Given the description of an element on the screen output the (x, y) to click on. 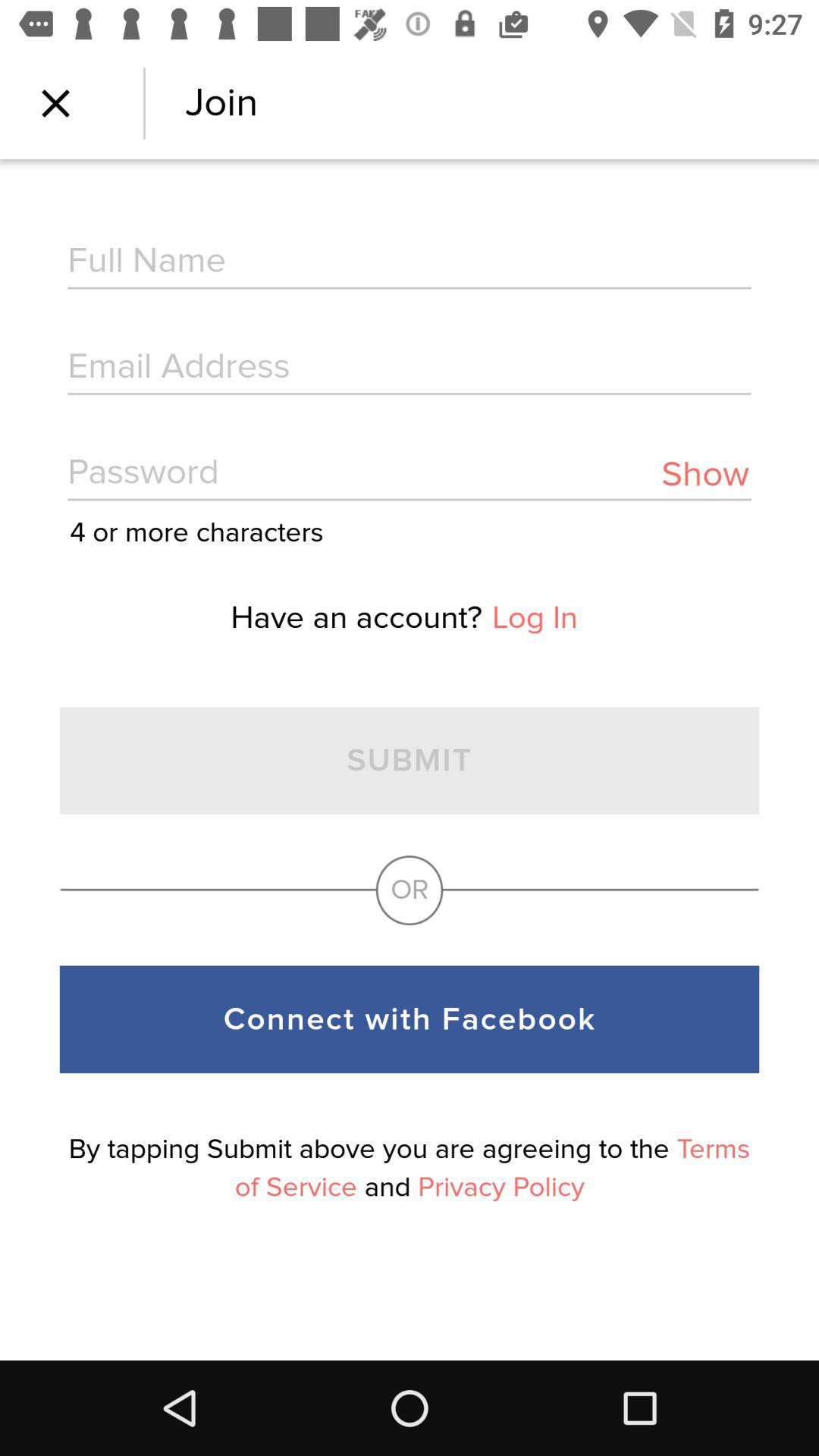
name input box (409, 262)
